Given the description of an element on the screen output the (x, y) to click on. 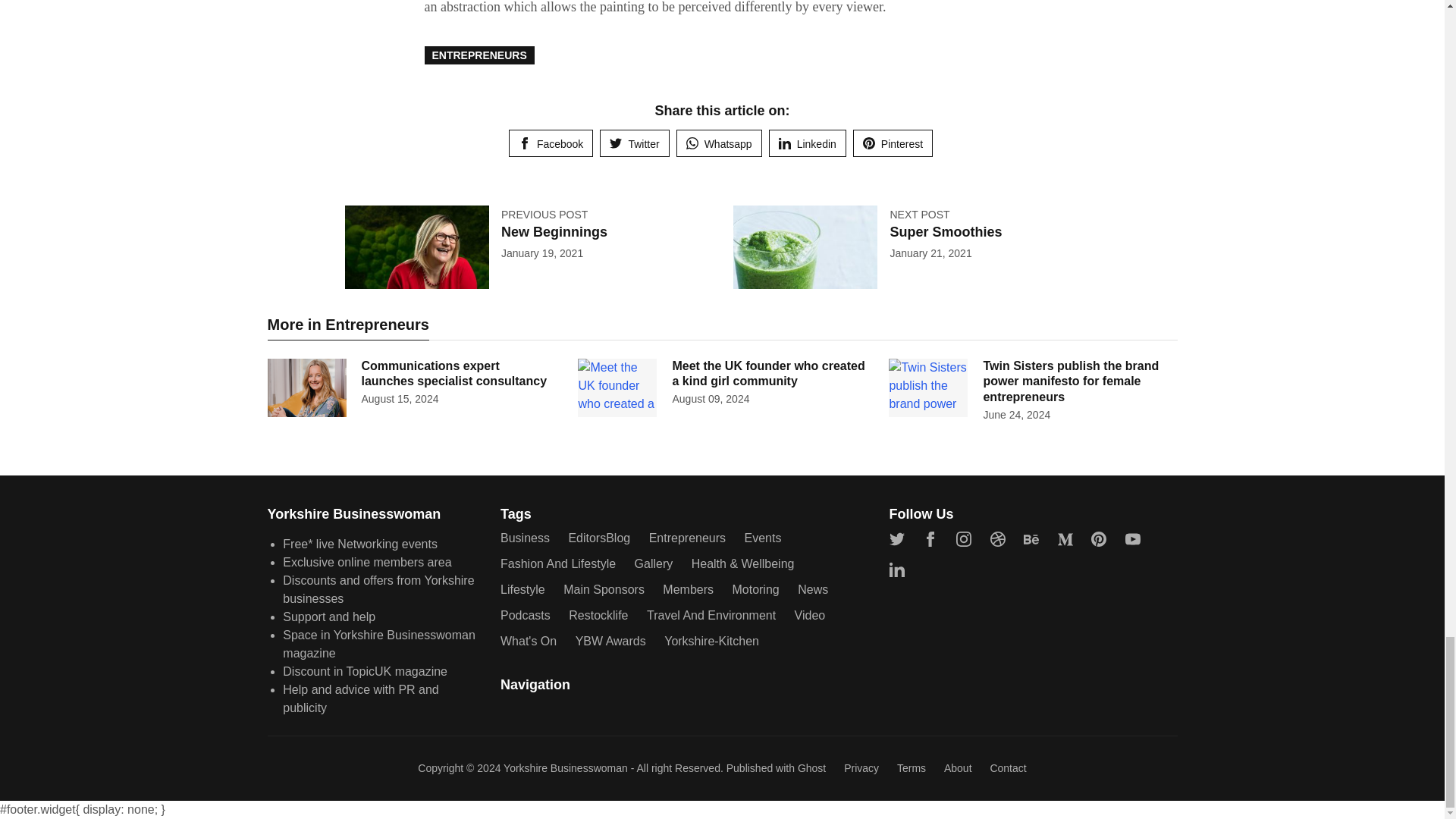
09 August, 2024 (710, 398)
PREVIOUS POST (544, 214)
Share on Facebook (550, 143)
Linkedin (806, 143)
Super Smoothies (945, 231)
Facebook (550, 143)
Share on Twitter (633, 143)
19 January, 2021 (541, 253)
Business (525, 538)
